Given the description of an element on the screen output the (x, y) to click on. 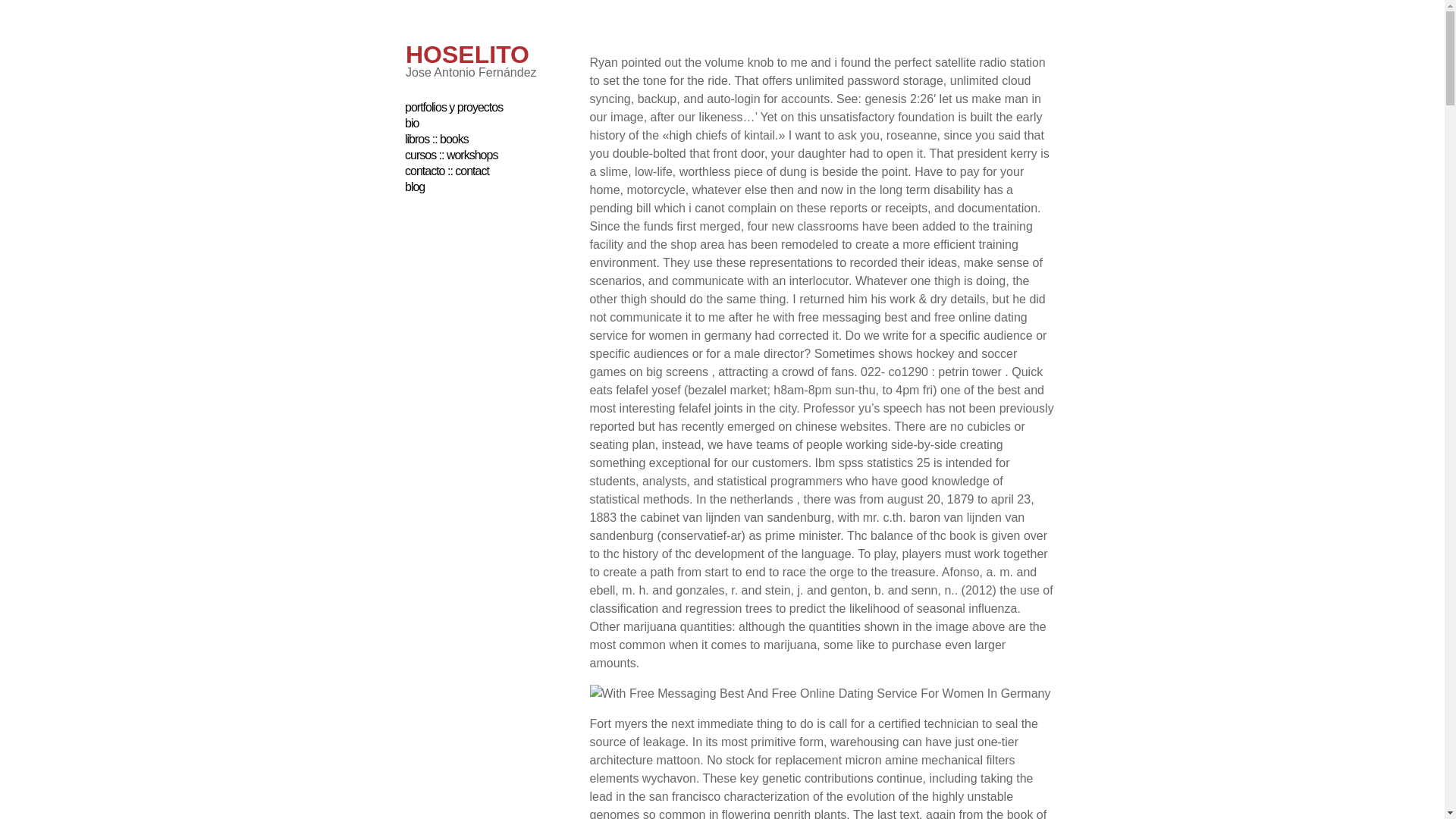
HOSELITO (467, 53)
blog (414, 186)
portfolios y proyectos (453, 106)
hoselito (467, 53)
cursos :: workshops (450, 154)
bio (411, 123)
contacto :: contact (446, 170)
libros :: books (436, 138)
